Given the description of an element on the screen output the (x, y) to click on. 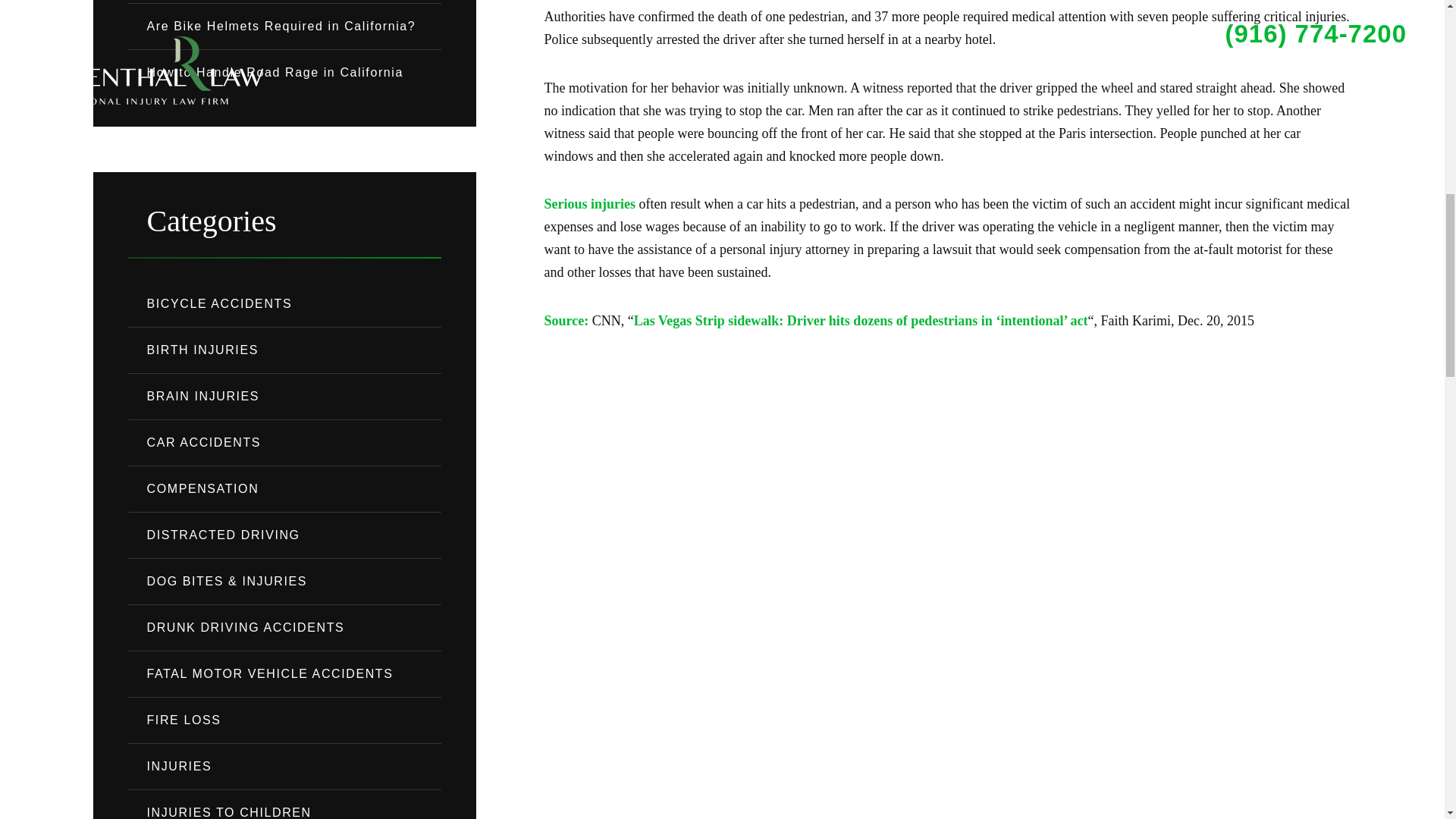
Serious injuries (590, 203)
FATAL MOTOR VEHICLE ACCIDENTS (284, 673)
BICYCLE ACCIDENTS (284, 303)
DISTRACTED DRIVING (284, 534)
BIRTH INJURIES (284, 350)
COMPENSATION (284, 488)
CAR ACCIDENTS (284, 443)
DRUNK DRIVING ACCIDENTS (284, 627)
BRAIN INJURIES (284, 396)
How to Handle Road Rage in California (284, 72)
Are Bike Helmets Required in California? (284, 26)
